Given the description of an element on the screen output the (x, y) to click on. 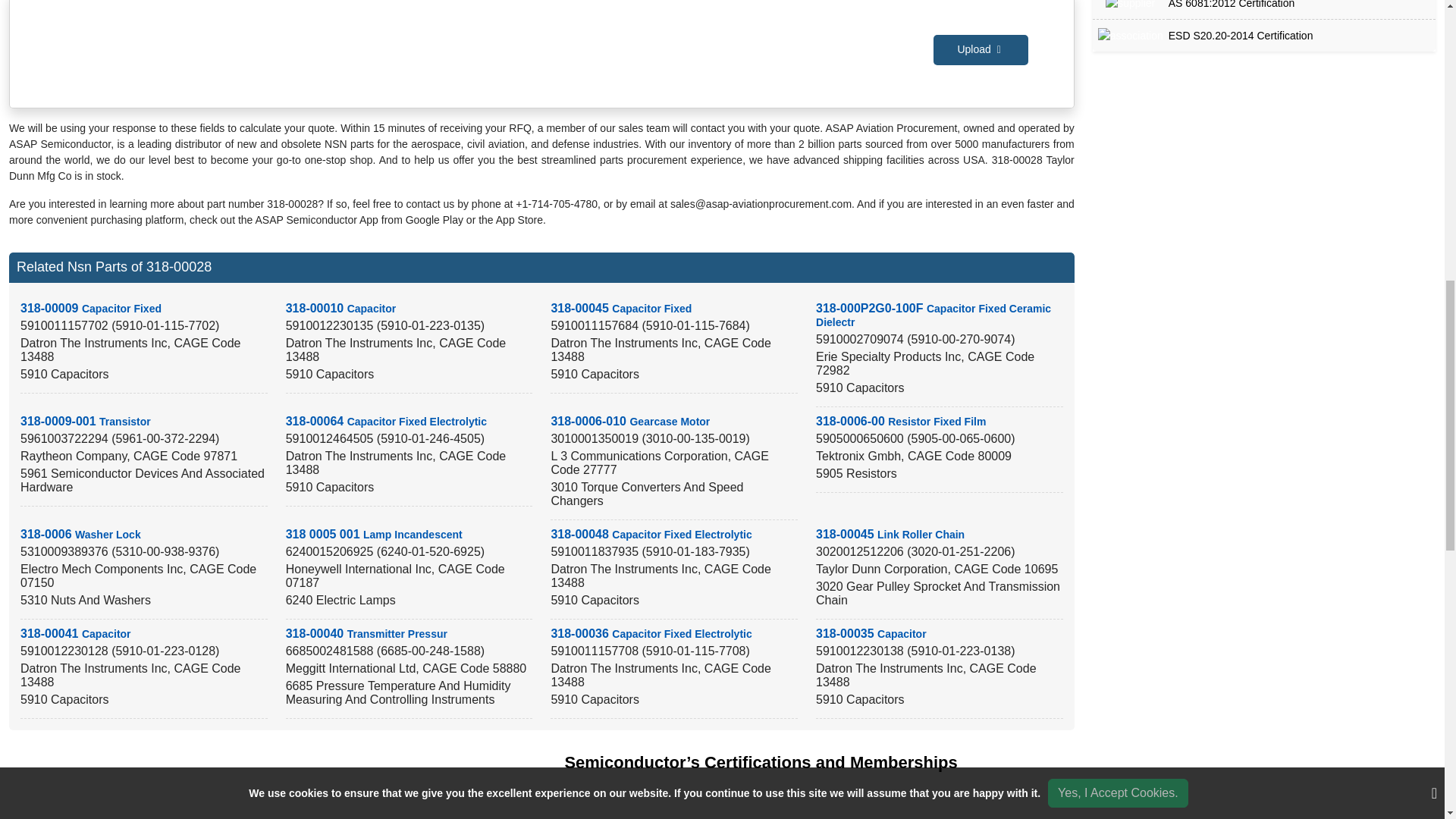
Upload   (980, 50)
318-0009-001 Transistor (85, 420)
318-00009 Capacitor Fixed (90, 308)
318-00064 Capacitor Fixed Electrolytic (385, 420)
ASAP Semiconductor Certification's (721, 808)
318-000P2G0-100F Capacitor Fixed Ceramic Dielectr (933, 315)
318-00045 Capacitor Fixed (620, 308)
318-0006-010 Gearcase Motor (630, 420)
318-00010 Capacitor (340, 308)
